Given the description of an element on the screen output the (x, y) to click on. 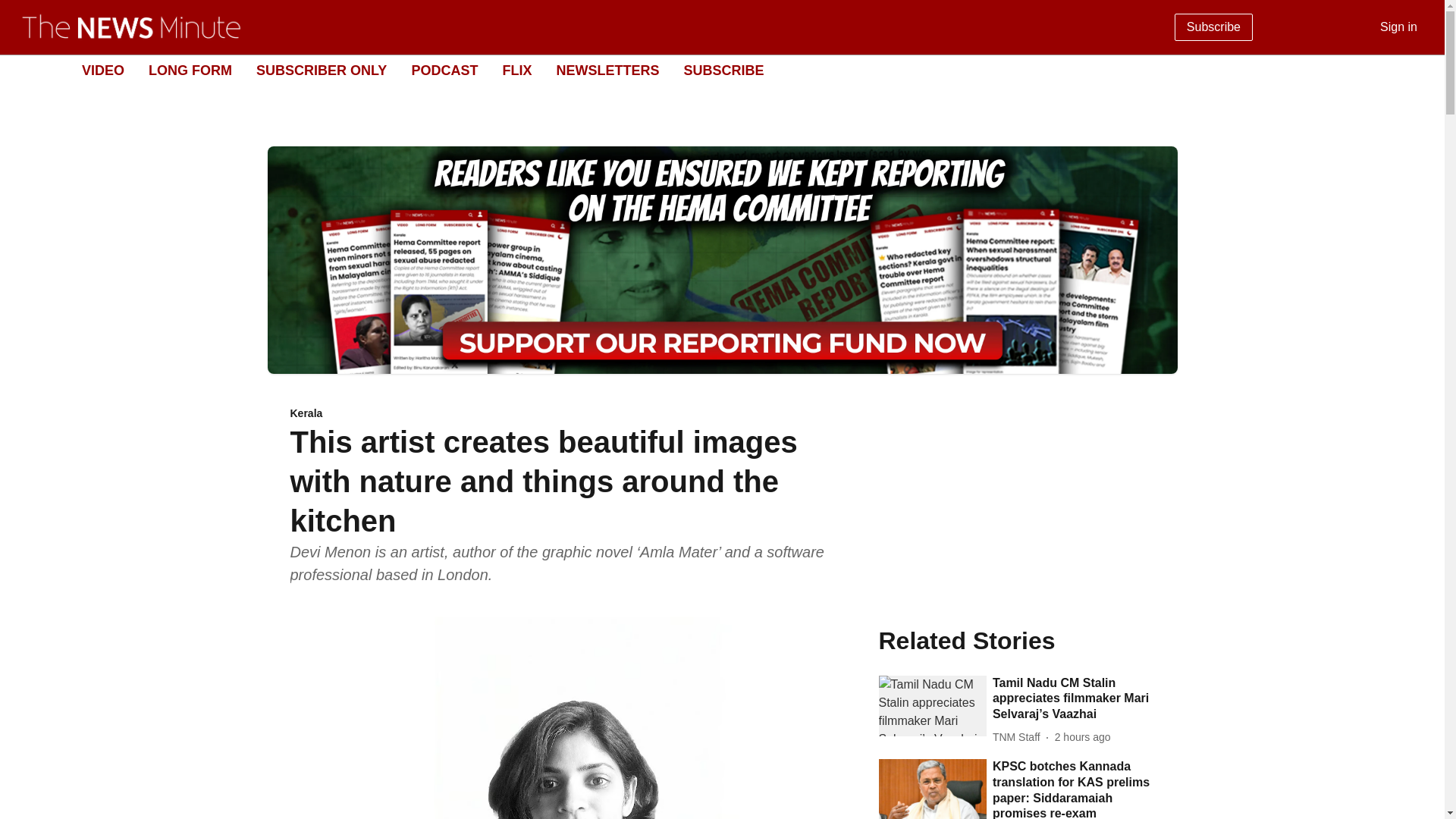
FLIX (516, 70)
Kerala (574, 414)
NEWSLETTERS (607, 70)
Dark Mode (1415, 70)
SUBSCRIBER ONLY (321, 70)
PODCAST (443, 70)
VIDEO (102, 70)
Related Stories (1015, 639)
